Given the description of an element on the screen output the (x, y) to click on. 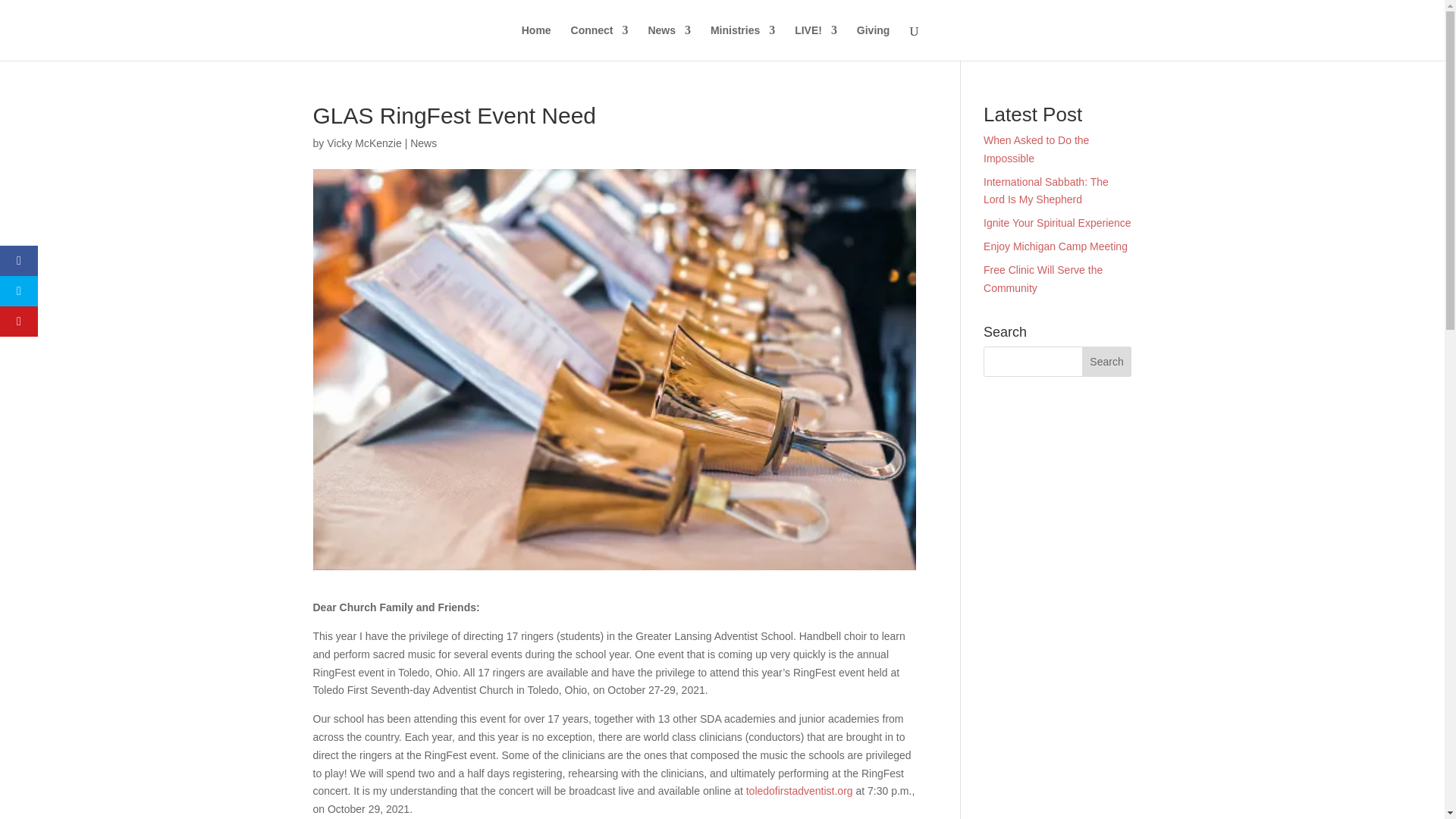
Free Clinic Will Serve the Community (1043, 278)
LIVE! (815, 42)
Connect (599, 42)
Search (1106, 361)
toledofirstadventist.org (799, 790)
News (668, 42)
Search (1106, 361)
International Sabbath: The Lord Is My Shepherd (1046, 191)
News (423, 143)
Enjoy Michigan Camp Meeting (1055, 246)
